Given the description of an element on the screen output the (x, y) to click on. 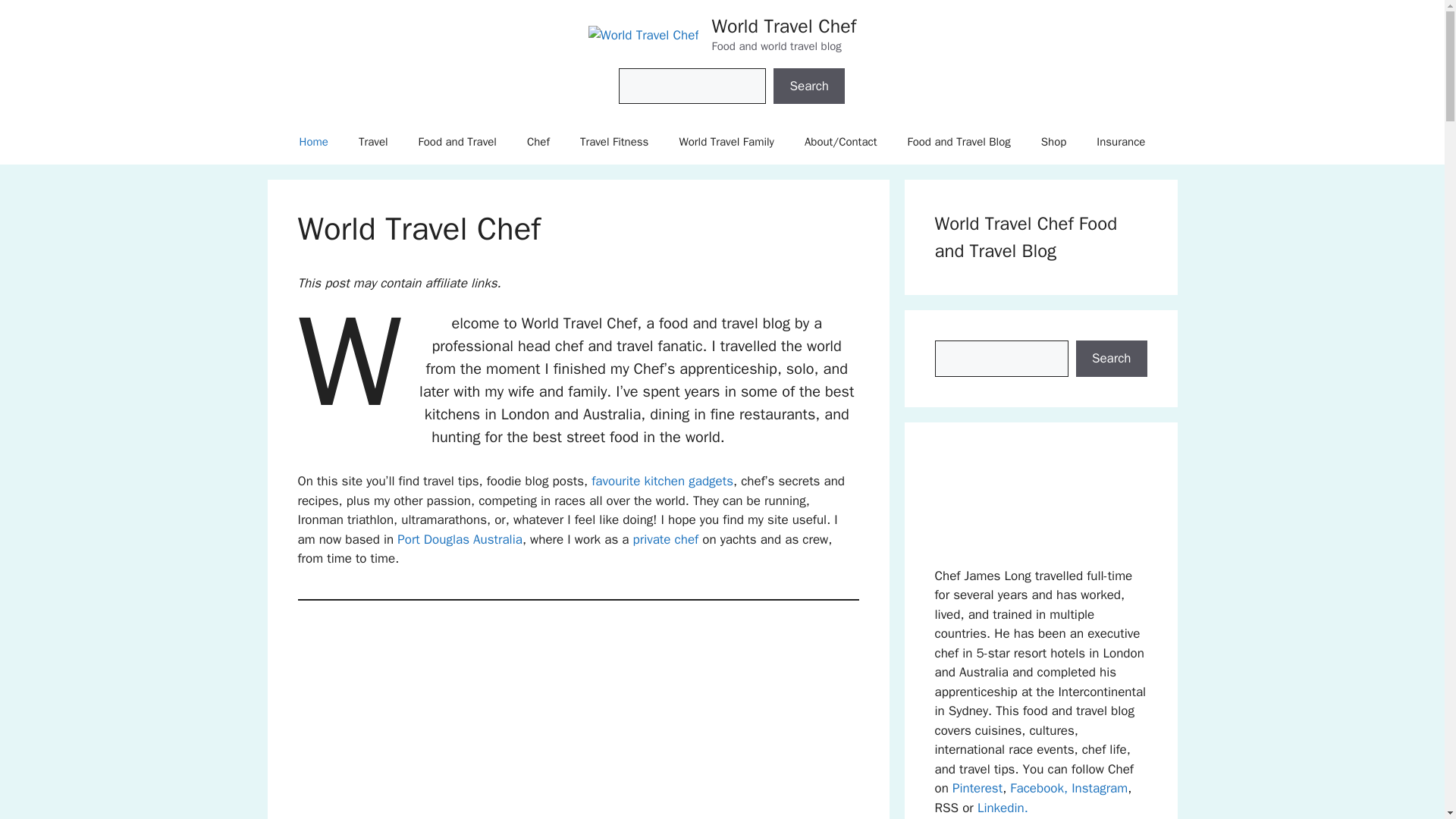
Travel Fitness (613, 141)
Travel (373, 141)
Search (808, 85)
Shop (1053, 141)
Chef (538, 141)
Home (313, 141)
Insurance (1120, 141)
Food and Travel (457, 141)
Food and Travel Blog (958, 141)
private chef (665, 539)
World Travel Chef (783, 25)
favourite kitchen gadgets (662, 480)
World Travel Family (726, 141)
Port Douglas Australia (459, 539)
